Given the description of an element on the screen output the (x, y) to click on. 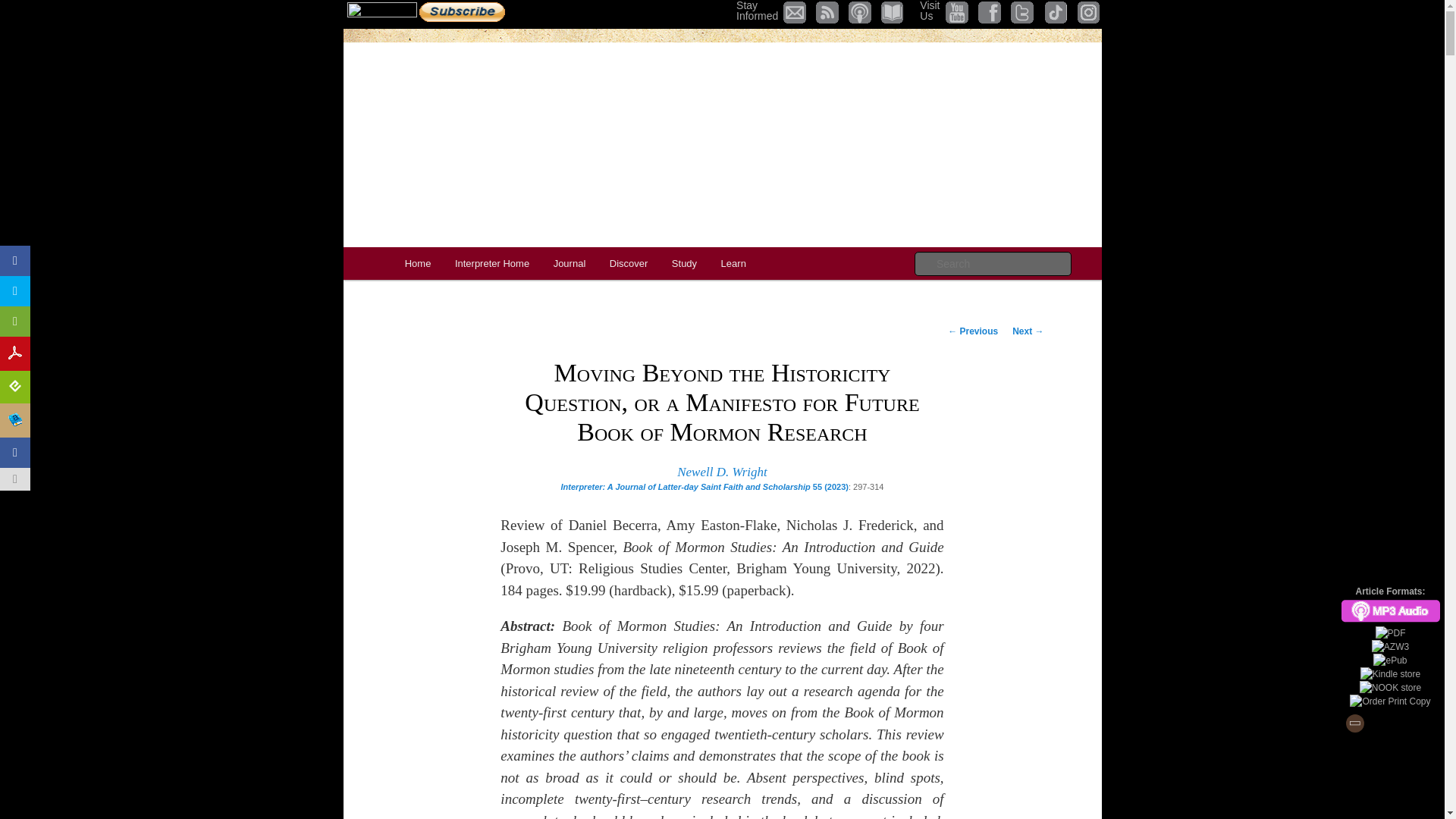
Home (417, 263)
Journal (568, 263)
Skip to primary content (756, 11)
Donate to the Interpreter Foundation (684, 263)
Interpreter Home (381, 12)
Stay Informed (491, 263)
Stay Informed (756, 11)
